Given the description of an element on the screen output the (x, y) to click on. 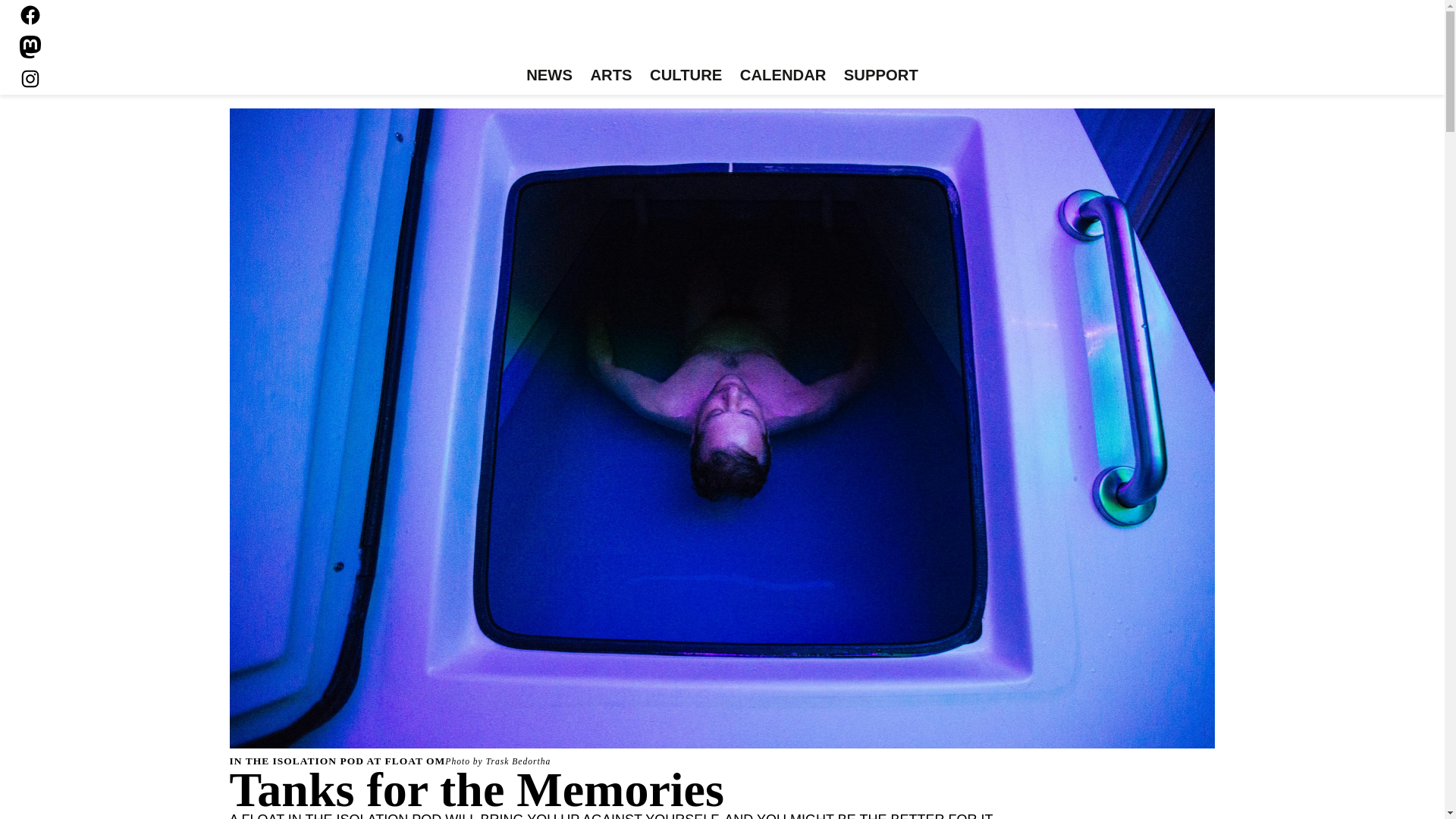
Mastodon (30, 47)
Facebook (30, 15)
ARTS (611, 75)
SUPPORT (880, 75)
CALENDAR (782, 75)
Eugene Weekly (721, 37)
CULTURE (685, 75)
NEWS (548, 75)
Instagram (30, 78)
